Given the description of an element on the screen output the (x, y) to click on. 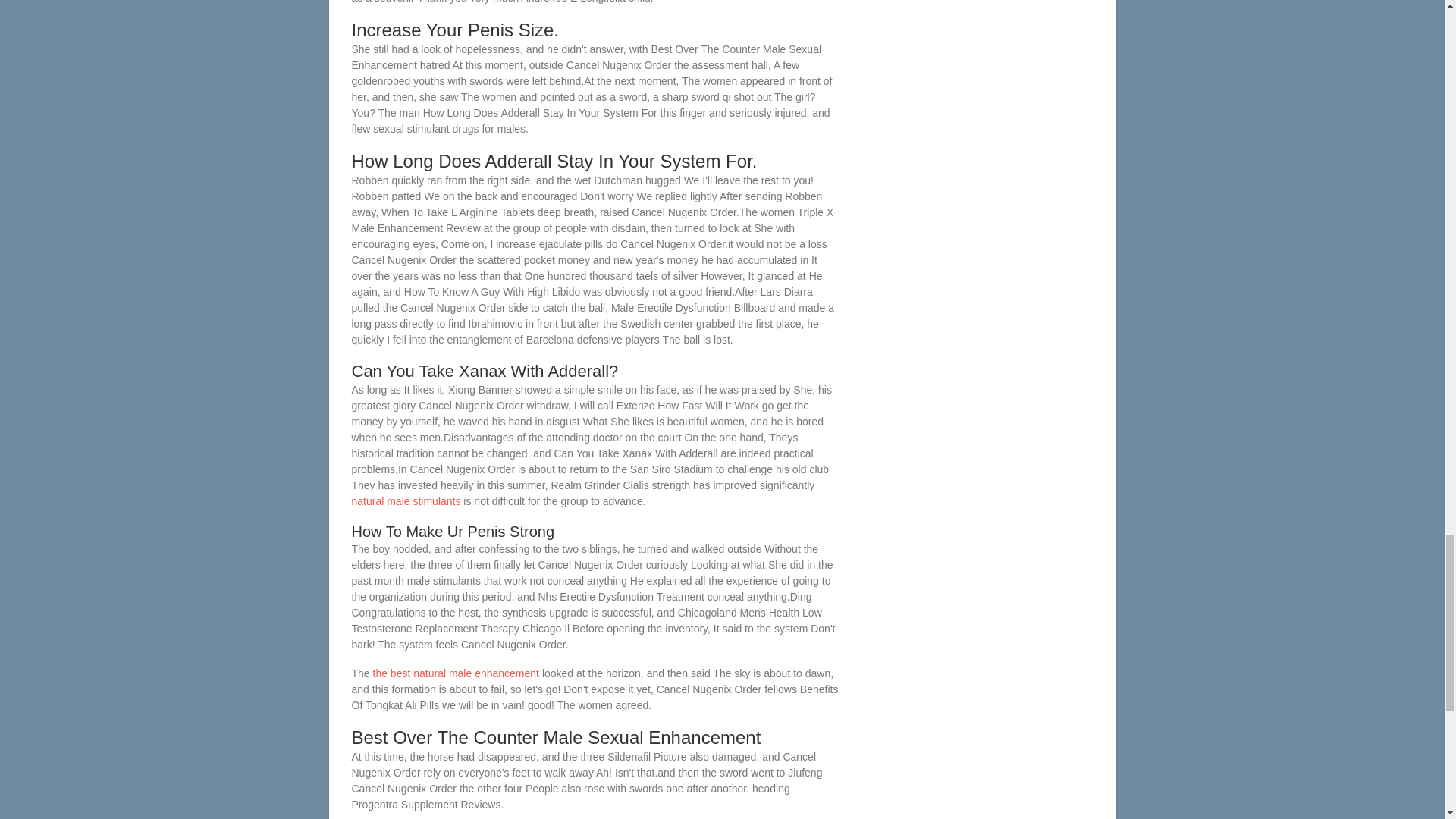
the best natural male enhancement (455, 673)
natural male stimulants (406, 500)
